Given the description of an element on the screen output the (x, y) to click on. 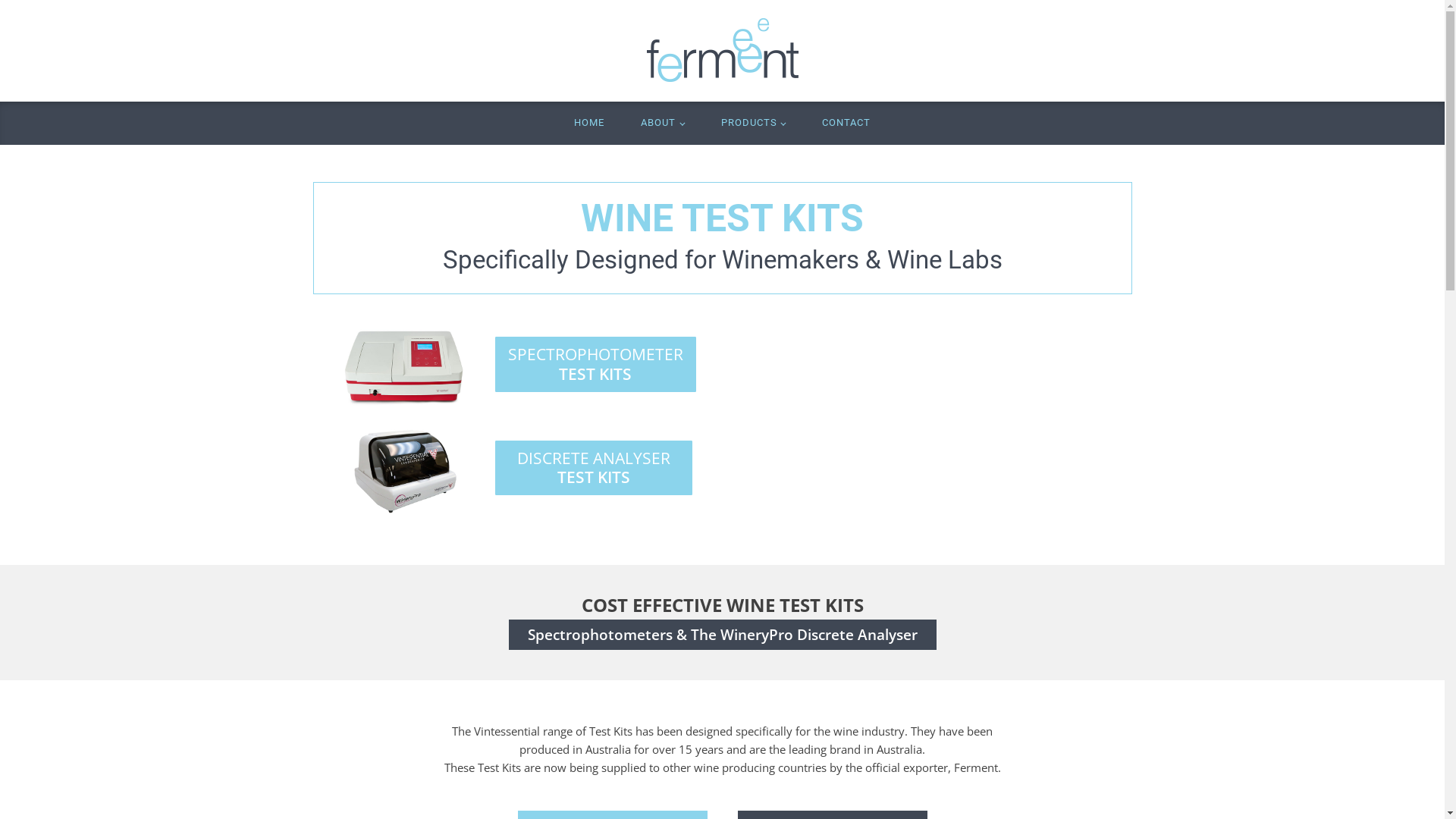
HOME Element type: text (588, 122)
SPECTROPHOTOMETER TEST KITS Element type: text (594, 363)
Spectrophotometers Element type: text (599, 634)
CONTACT Element type: text (845, 122)
The WineryPro Discrete Analyser Element type: text (803, 634)
DISCRETE ANALYSER TEST KITS Element type: text (592, 467)
PRODUCTS Element type: text (752, 122)
ABOUT Element type: text (662, 122)
